Given the description of an element on the screen output the (x, y) to click on. 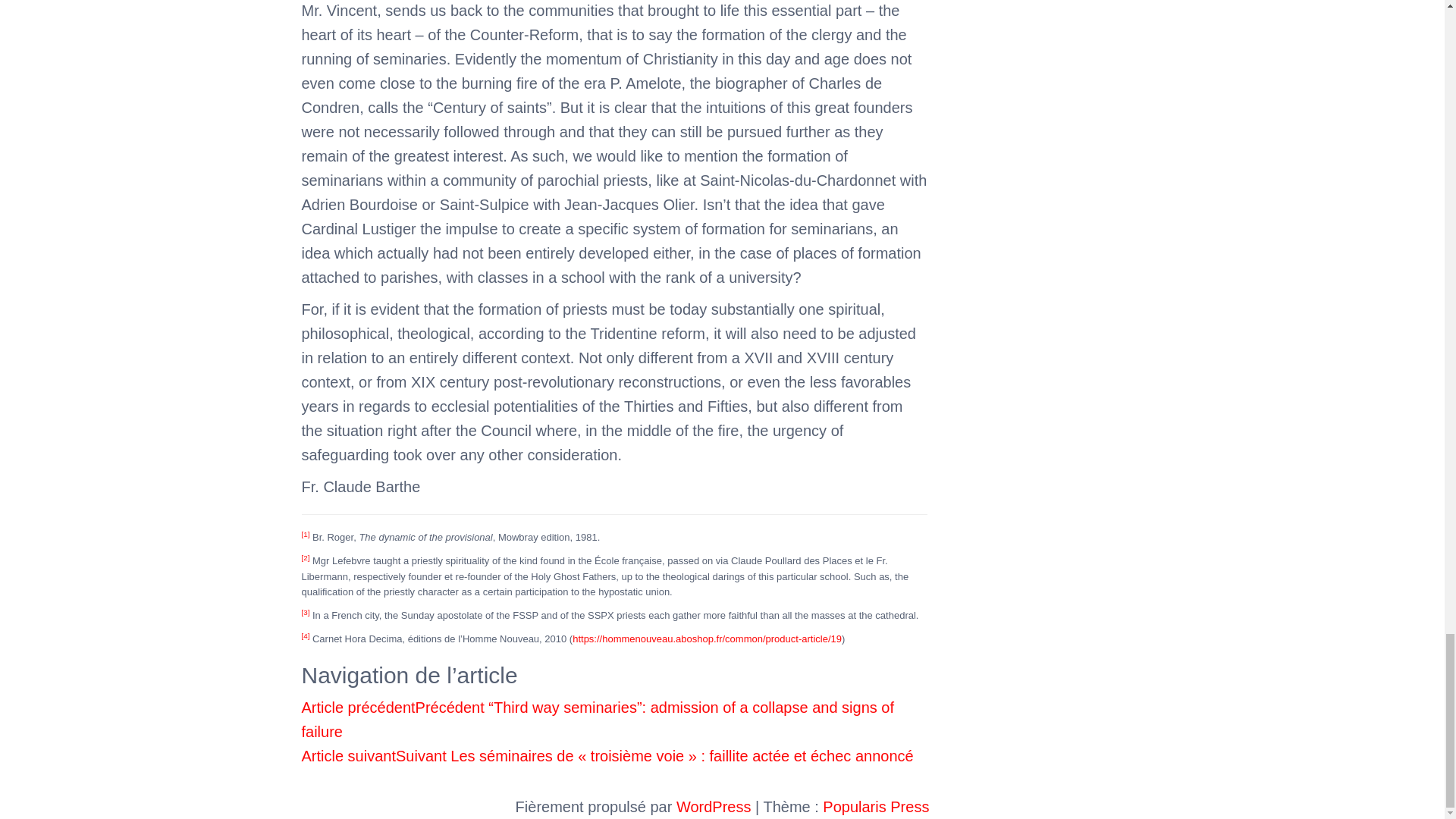
Popularis Press (875, 806)
WordPress (714, 806)
